Given the description of an element on the screen output the (x, y) to click on. 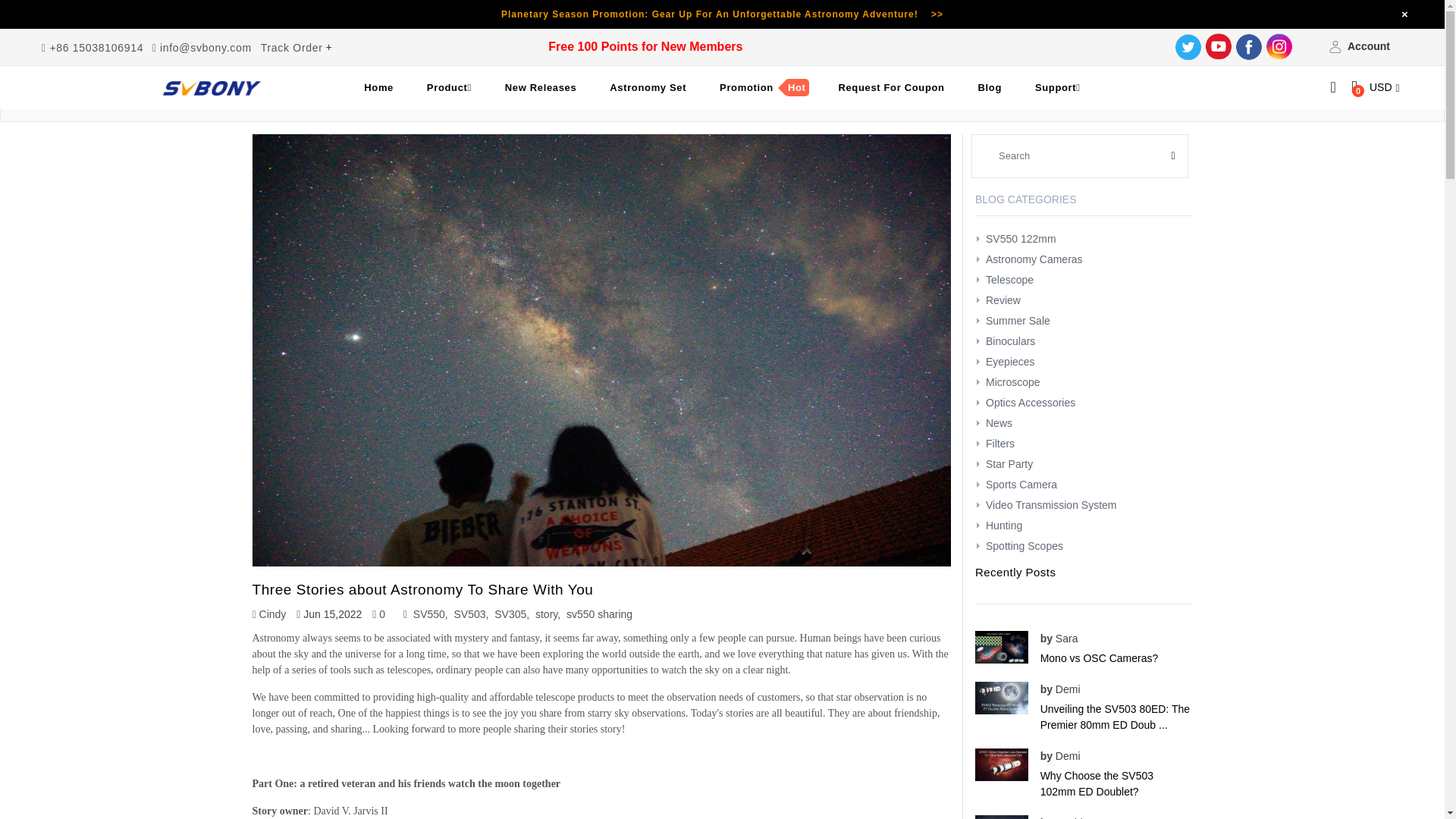
Product (449, 87)
Svbony (211, 88)
Home (379, 87)
Track Order (291, 47)
Support (1058, 87)
